Given the description of an element on the screen output the (x, y) to click on. 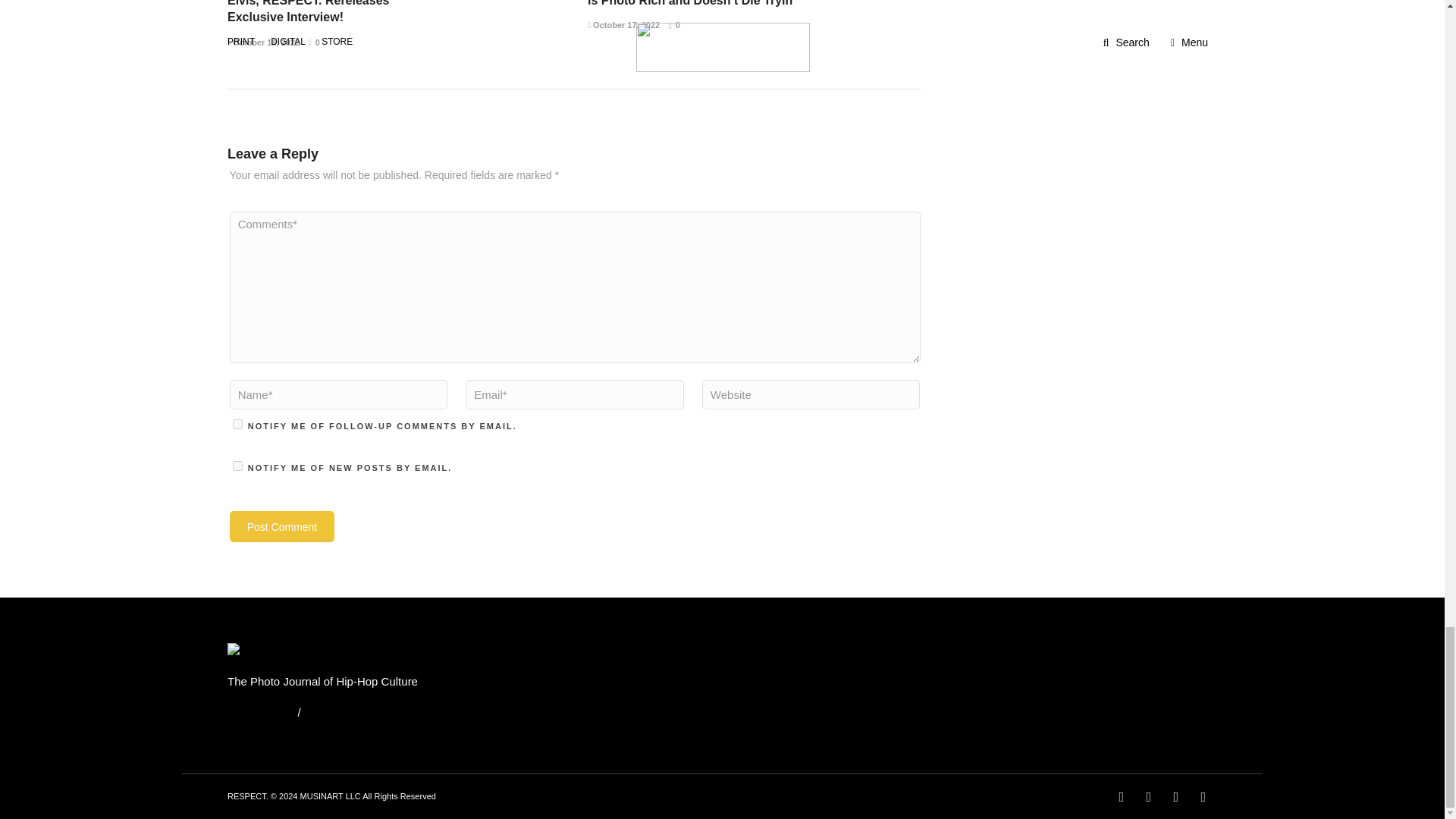
subscribe (237, 465)
subscribe (237, 424)
Post Comment (282, 526)
